Given the description of an element on the screen output the (x, y) to click on. 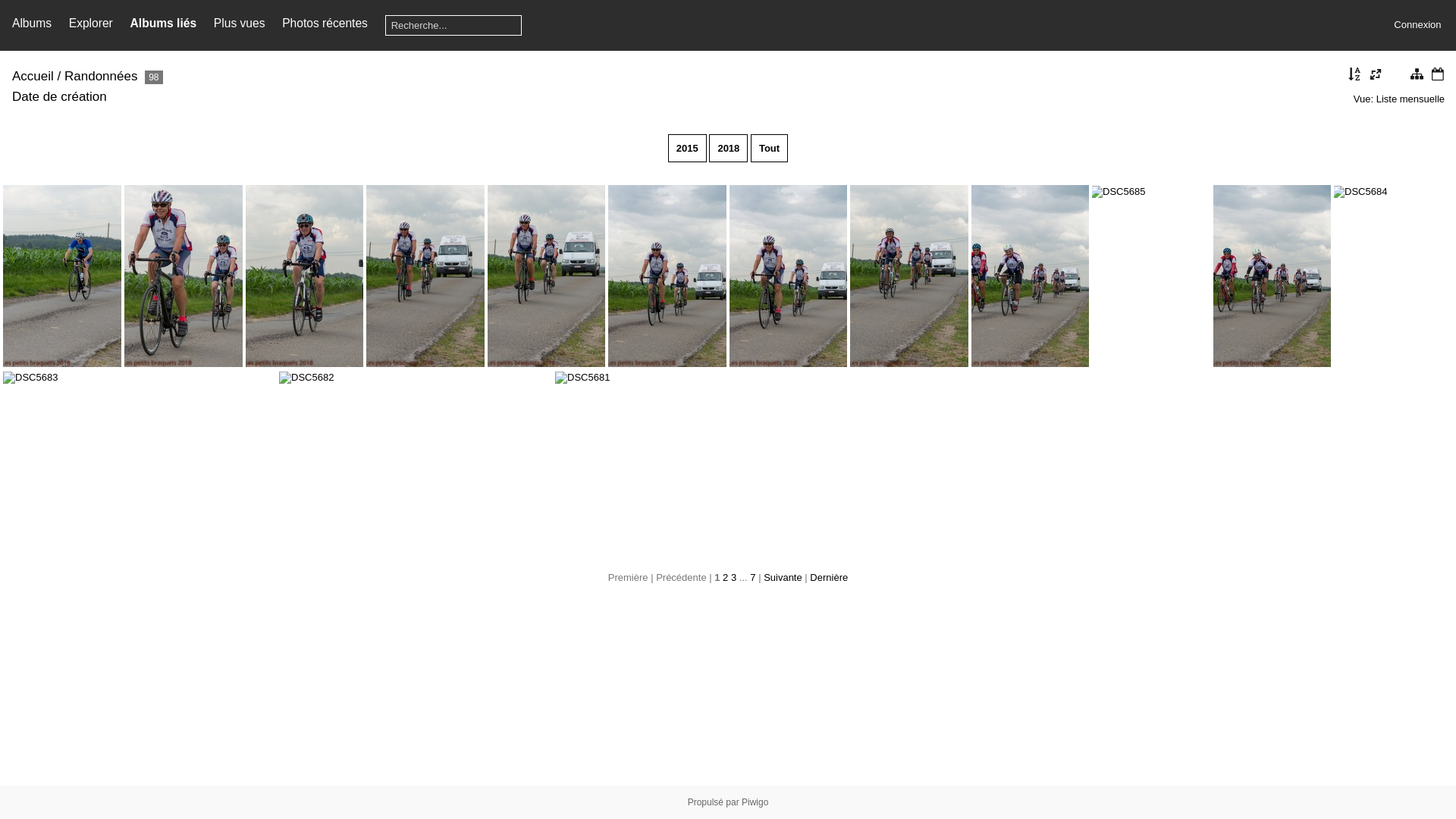
Connexion Element type: text (1416, 24)
Accueil Element type: text (32, 76)
Liste mensuelle Element type: text (1410, 98)
Plus vues Element type: text (239, 22)
2018 Element type: text (728, 148)
2015 Element type: text (687, 148)
Suivante Element type: text (782, 577)
2 Element type: text (725, 577)
7 Element type: text (752, 577)
Ordre de tri Element type: hover (1355, 74)
Tailles de photo Element type: hover (1375, 74)
Explorer Element type: text (90, 22)
3 Element type: text (733, 577)
Tout Element type: text (768, 148)
diaporama Element type: hover (1395, 74)
afficher un calendrier par date d'ajout Element type: hover (1437, 74)
Piwigo Element type: text (754, 802)
Albums Element type: text (31, 22)
